Given the description of an element on the screen output the (x, y) to click on. 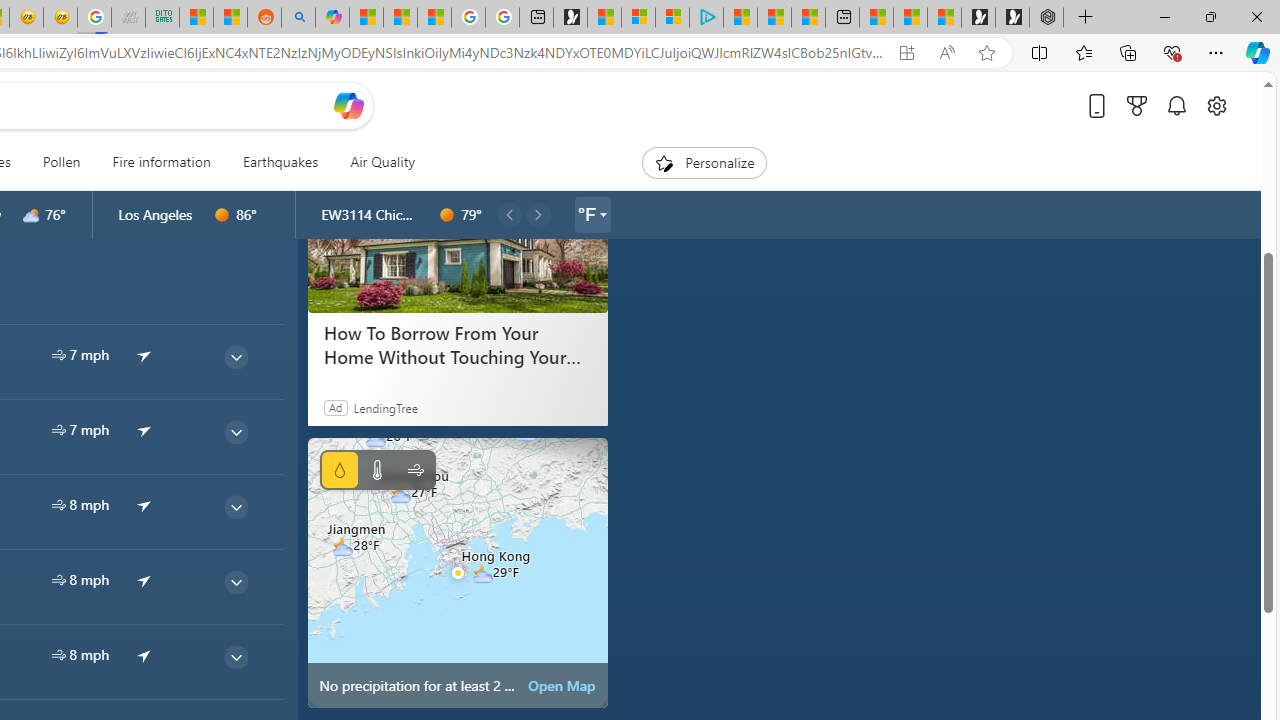
App available. Install Microsoft Start Weather (906, 53)
static map image of vector map (457, 572)
LendingTree (385, 407)
Fire information (161, 162)
common/arrow (144, 655)
